Given the description of an element on the screen output the (x, y) to click on. 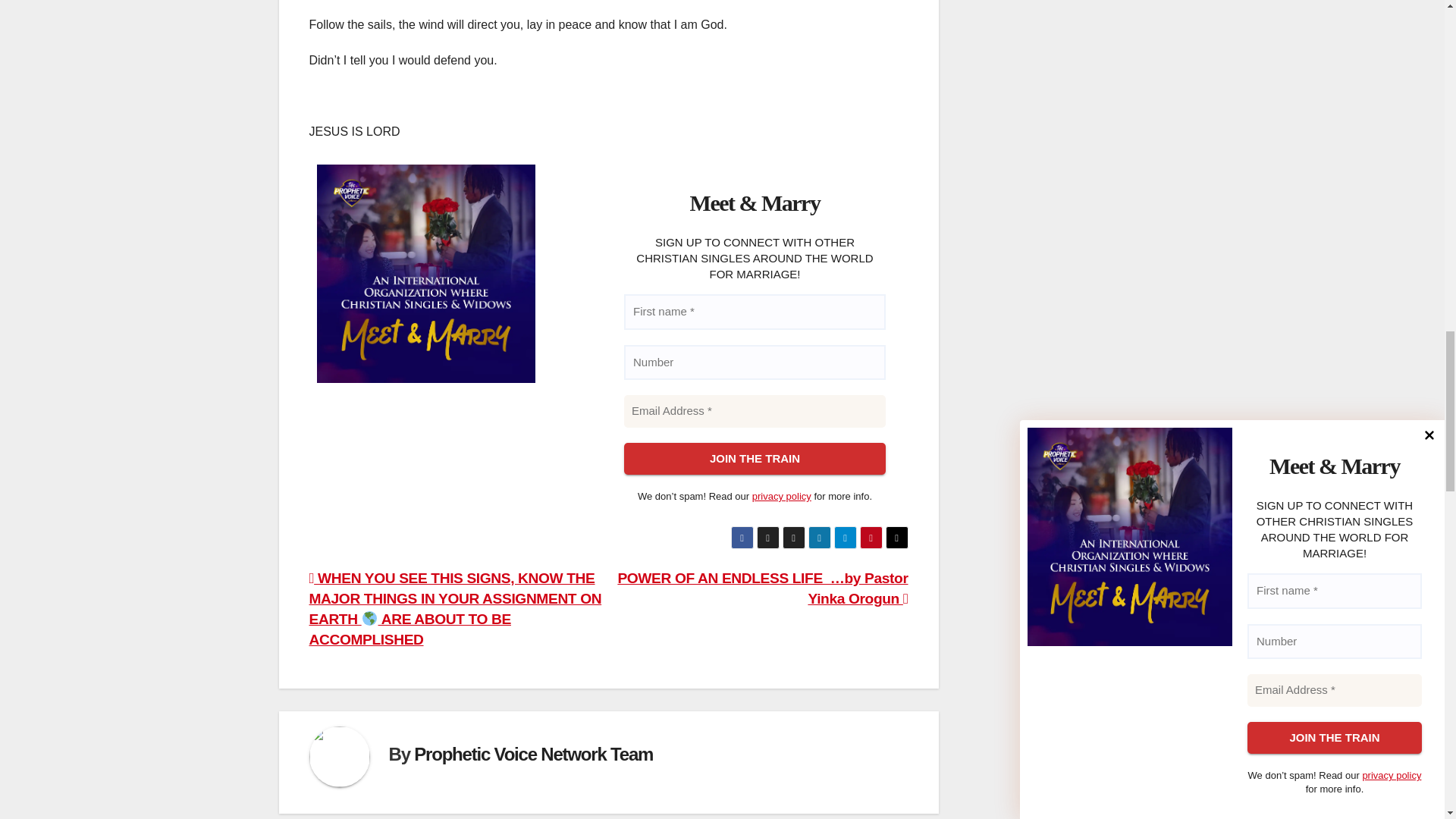
JOIN THE TRAIN (754, 459)
JOIN THE TRAIN (754, 459)
First name (754, 312)
privacy policy (780, 496)
Number (754, 362)
Prophetic Voice Network Team (532, 753)
Email Address (754, 410)
